Given the description of an element on the screen output the (x, y) to click on. 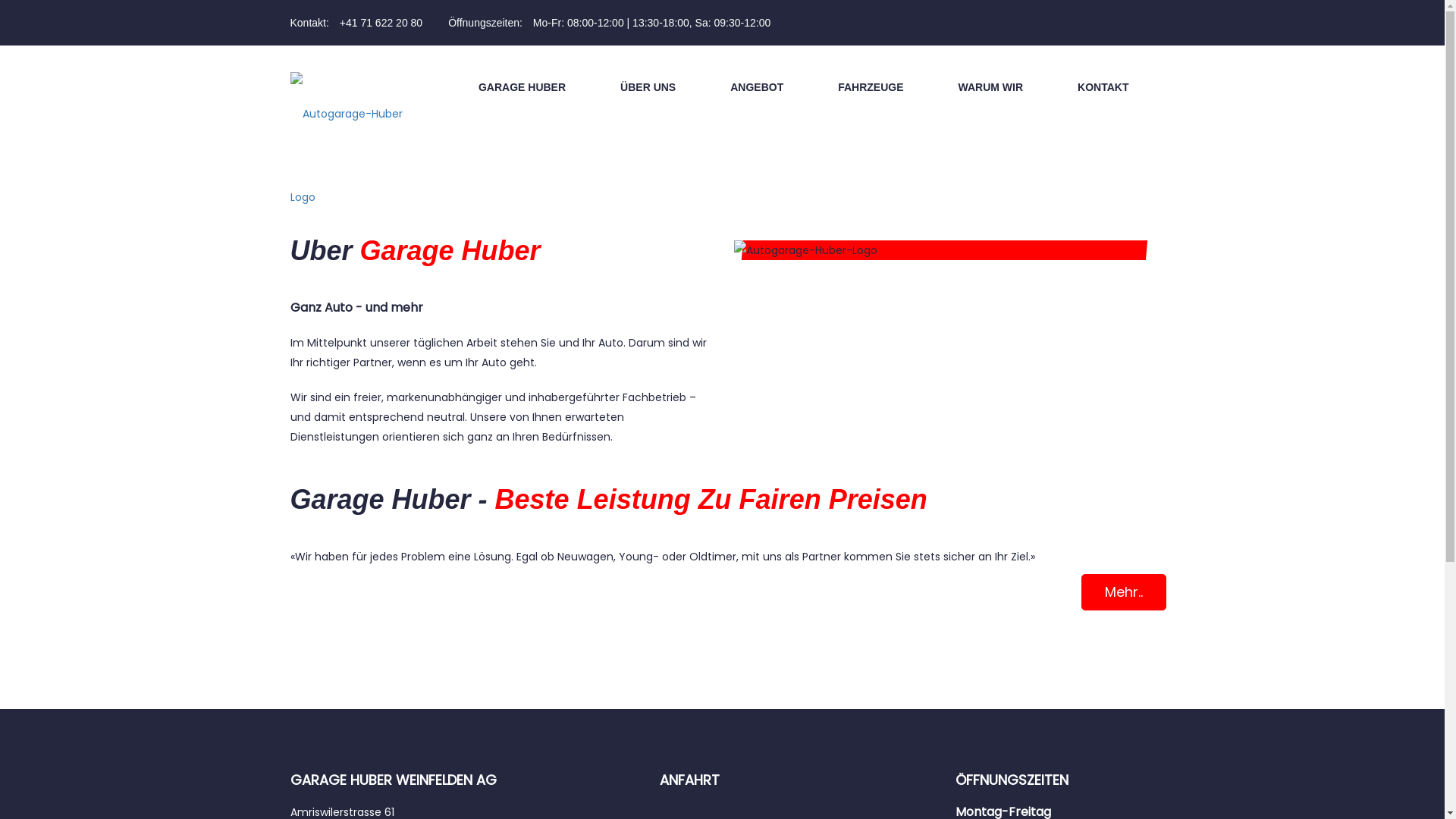
FAHRZEUGE Element type: text (870, 86)
WARUM WIR Element type: text (990, 86)
#slider-direction-2 Element type: hover (216, 139)
ANGEBOT Element type: text (756, 86)
GARAGE HUBER Element type: text (521, 86)
#slider-direction-1 Element type: hover (71, 139)
Mehr.. Element type: text (1123, 592)
KONTAKT Element type: text (1102, 86)
